Given the description of an element on the screen output the (x, y) to click on. 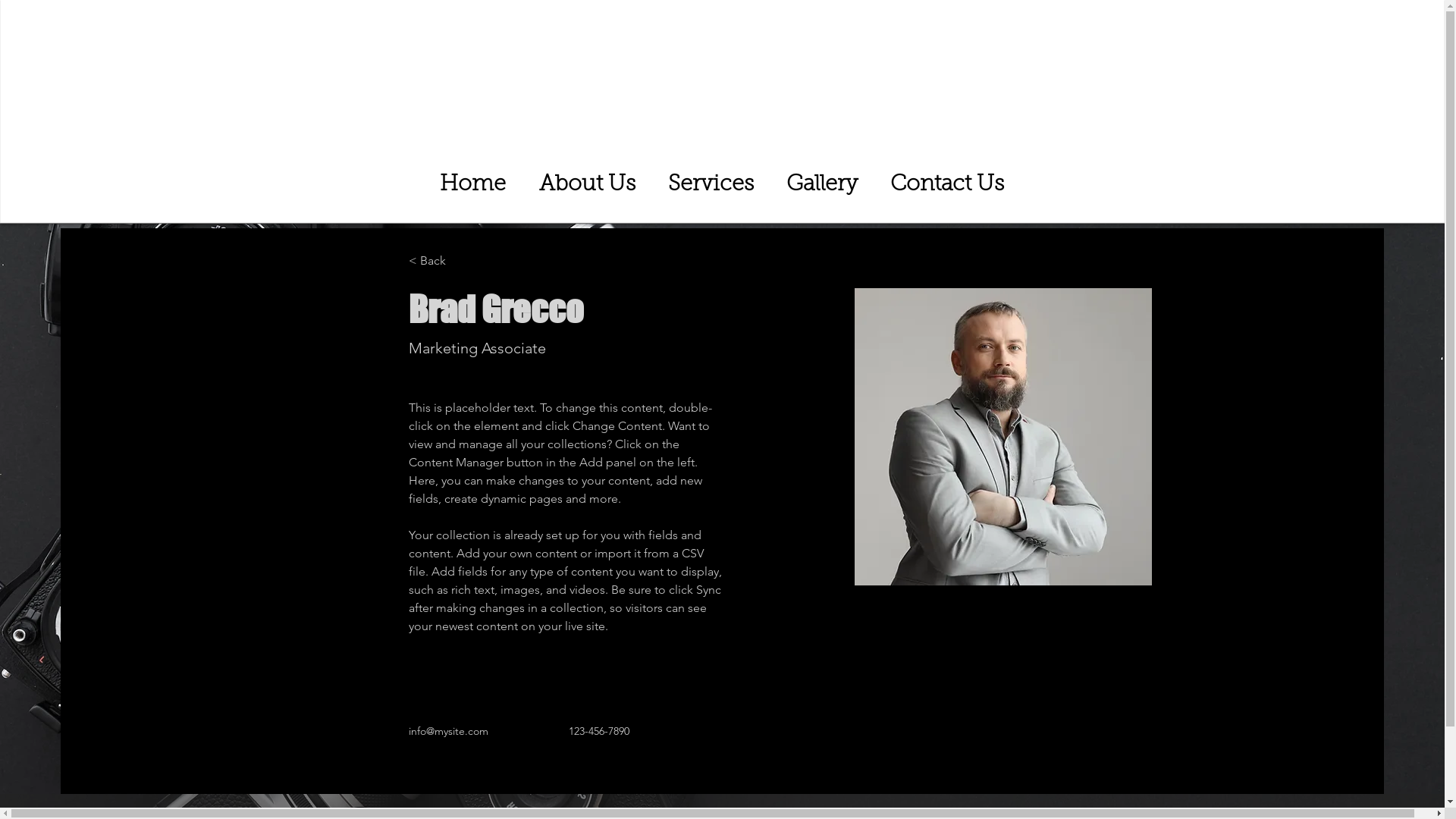
Services Element type: text (711, 184)
Businessman.jpg Element type: hover (1002, 436)
info@mysite.com Element type: text (448, 730)
Gallery Element type: text (822, 184)
Home Element type: text (472, 184)
About Us Element type: text (586, 184)
Contact Us Element type: text (946, 184)
